Given the description of an element on the screen output the (x, y) to click on. 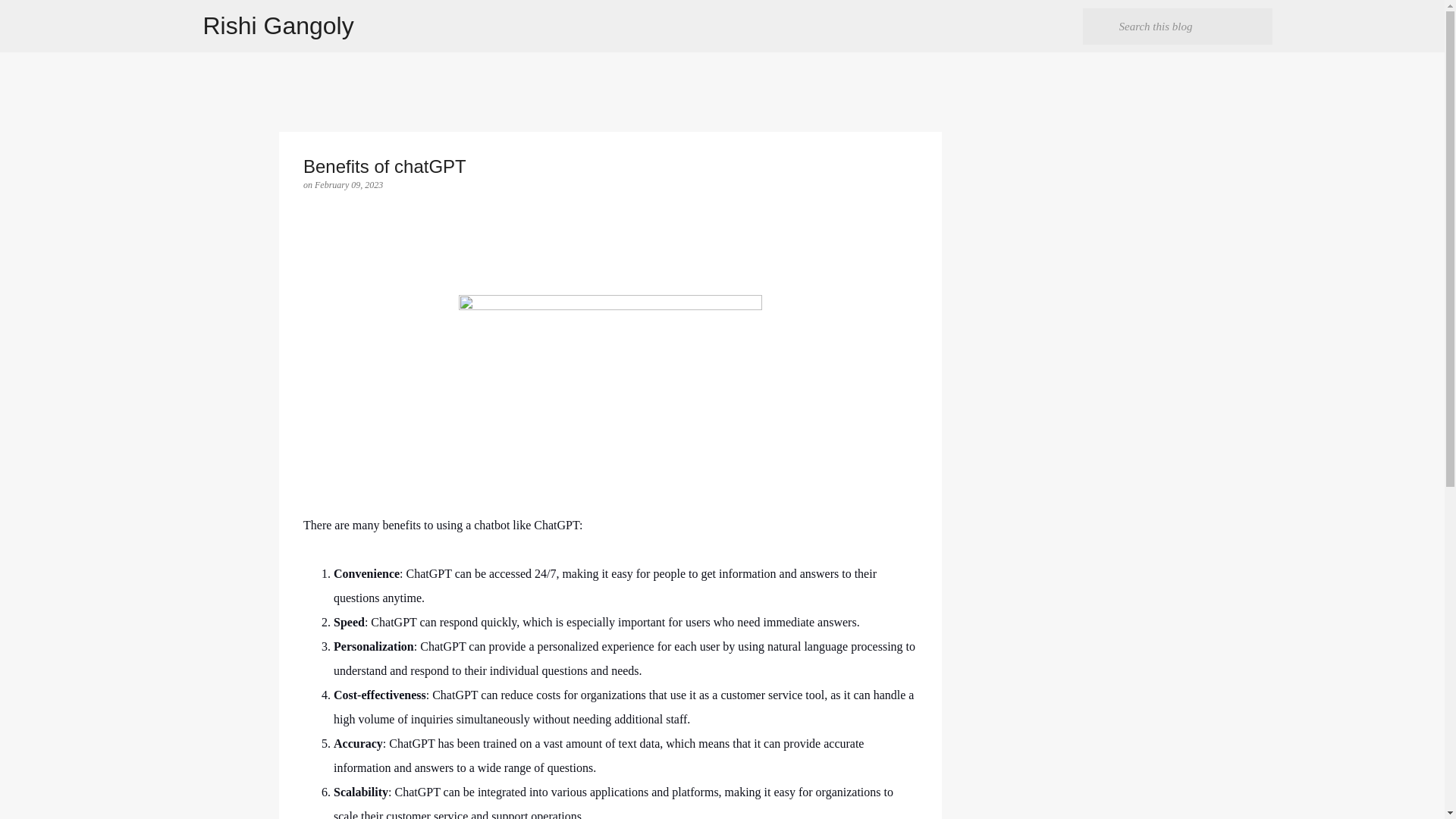
Rishi Gangoly (278, 25)
February 09, 2023 (348, 184)
permanent link (348, 184)
